Given the description of an element on the screen output the (x, y) to click on. 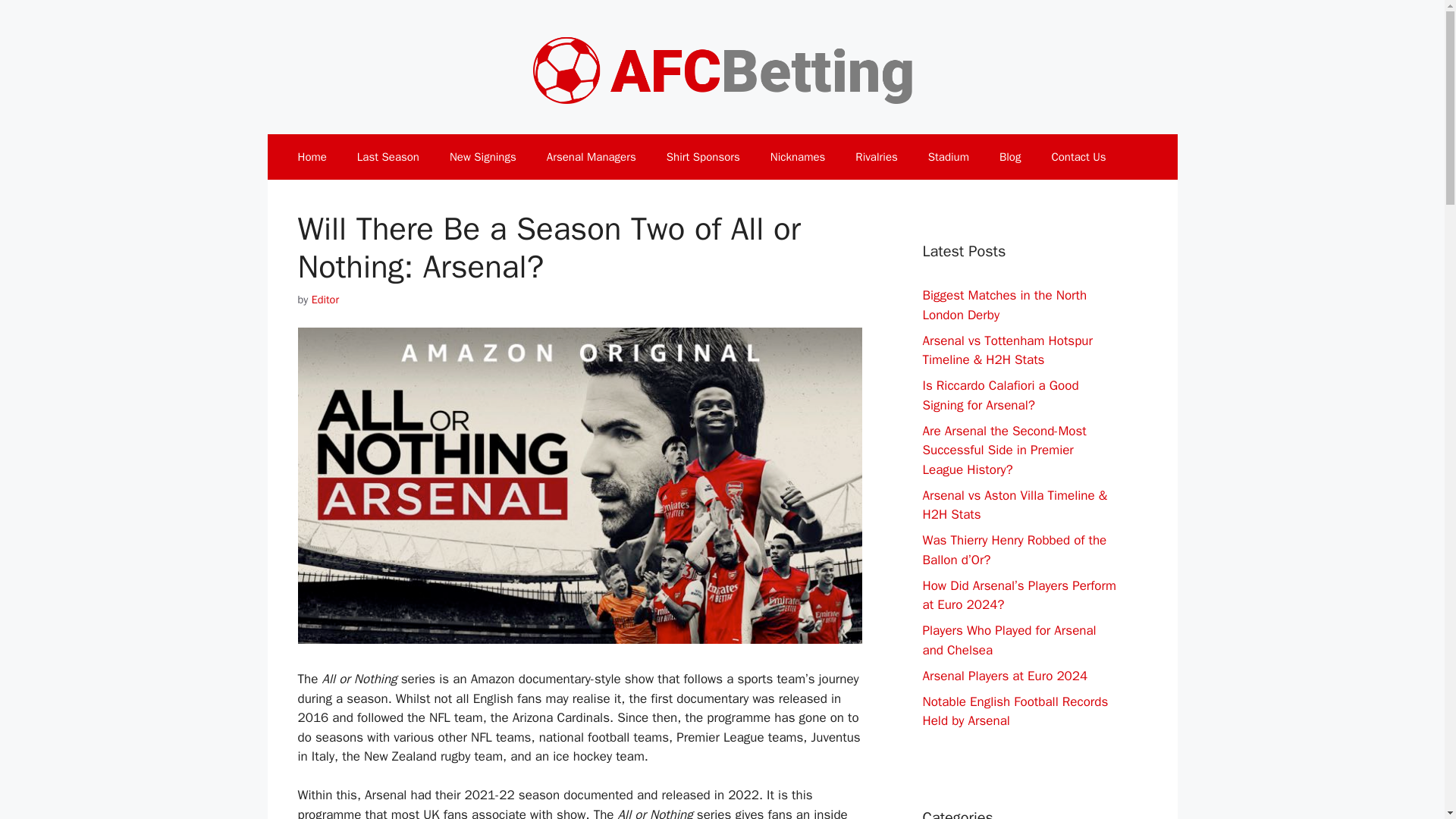
View all posts by Editor (325, 299)
Arsenal Managers (590, 156)
Editor (325, 299)
Blog (1009, 156)
Biggest Matches in the North London Derby (1003, 304)
AFC Betting (721, 66)
Rivalries (876, 156)
Last Season (387, 156)
Stadium (948, 156)
Players Who Played for Arsenal and Chelsea (1008, 640)
